Given the description of an element on the screen output the (x, y) to click on. 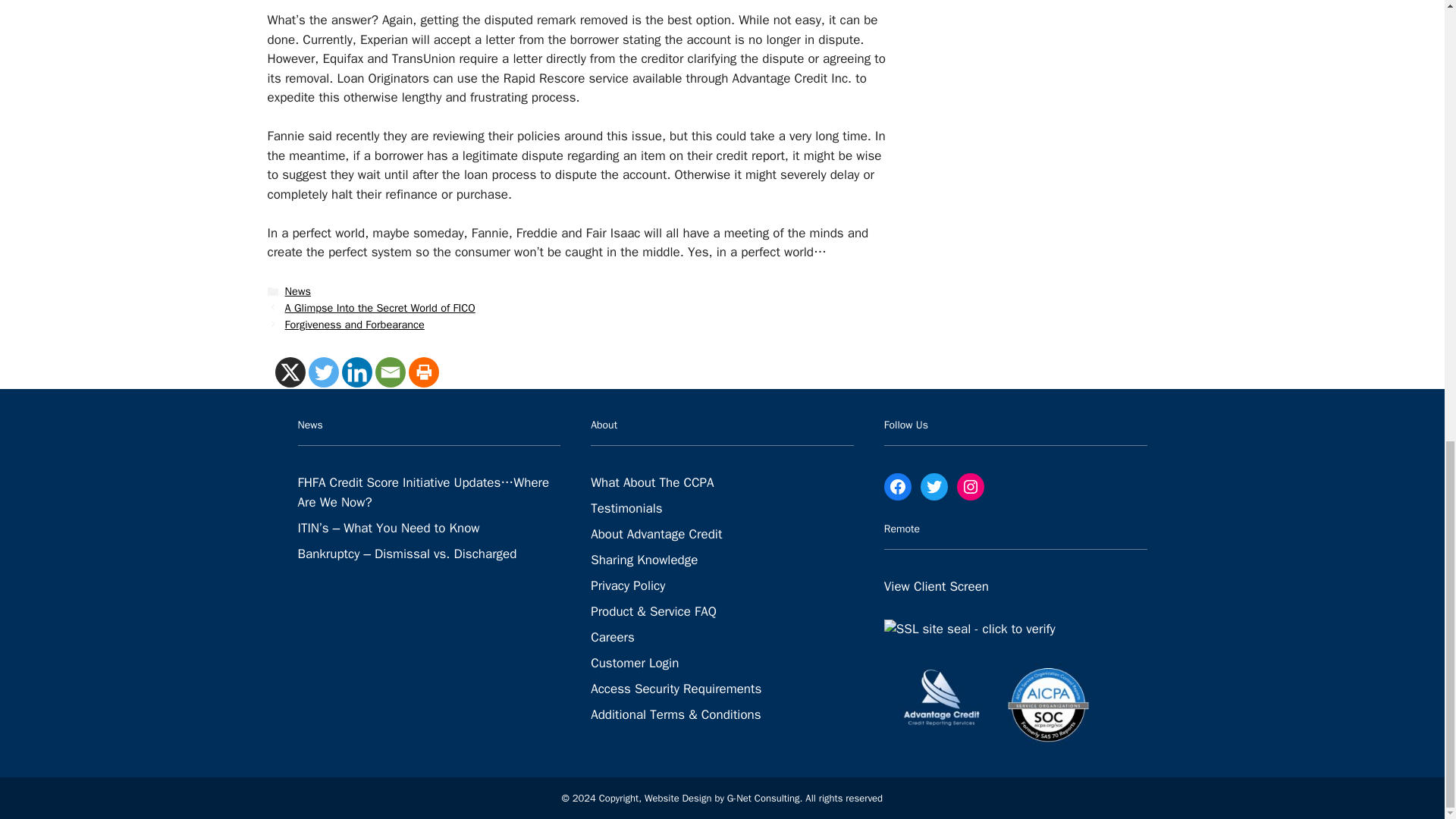
X (289, 372)
Print (422, 372)
Email (389, 372)
Scroll back to top (1406, 576)
Twitter (322, 372)
Linkedin (355, 372)
